Given the description of an element on the screen output the (x, y) to click on. 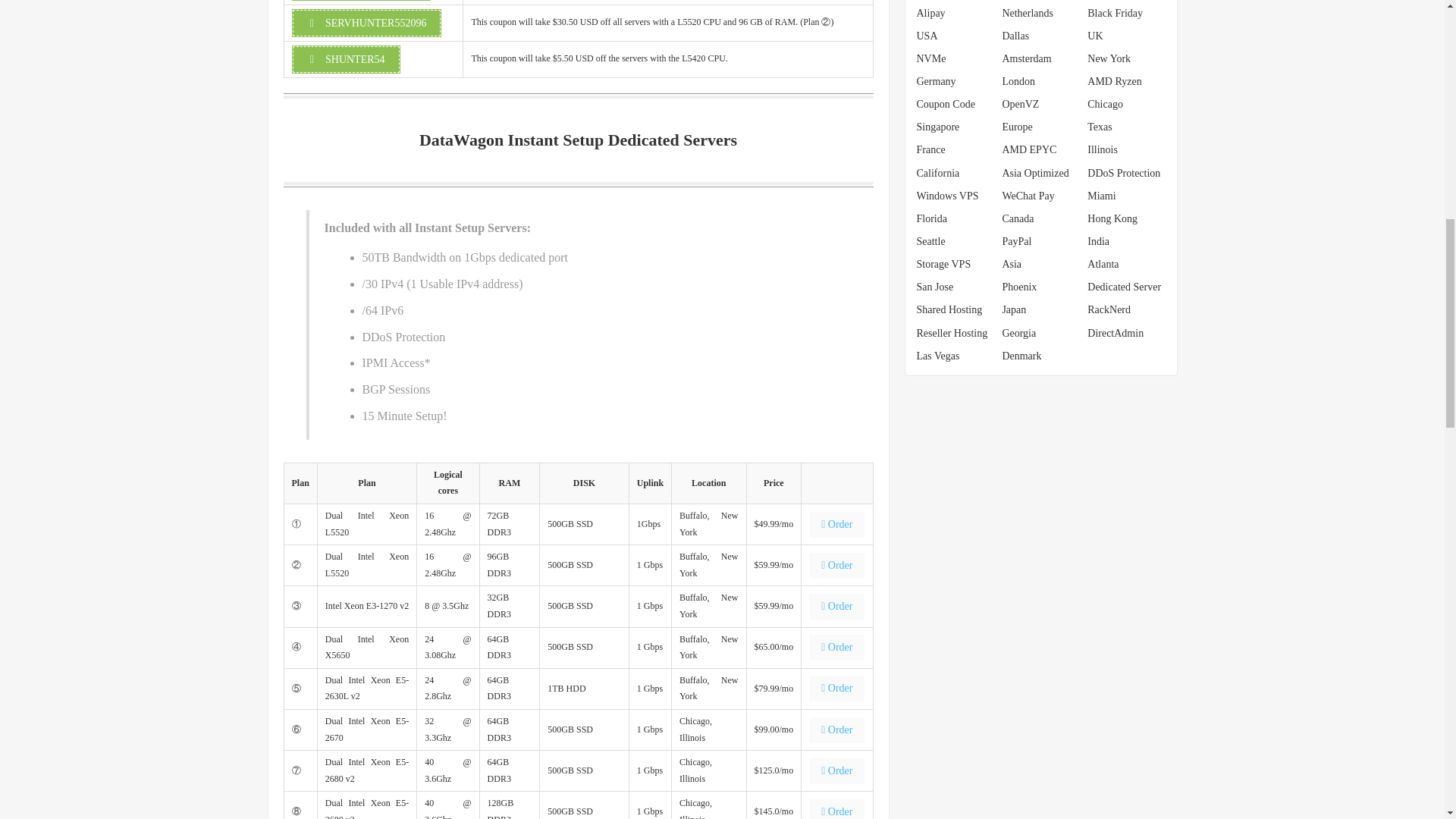
SHUNTER54 (344, 59)
Order (836, 605)
Order (836, 524)
Order (836, 565)
Order (836, 729)
Order (836, 647)
Order (836, 728)
Order (836, 564)
Order (836, 522)
Order (836, 687)
Order (836, 809)
Order (836, 688)
Order (836, 646)
Order (836, 769)
